Given the description of an element on the screen output the (x, y) to click on. 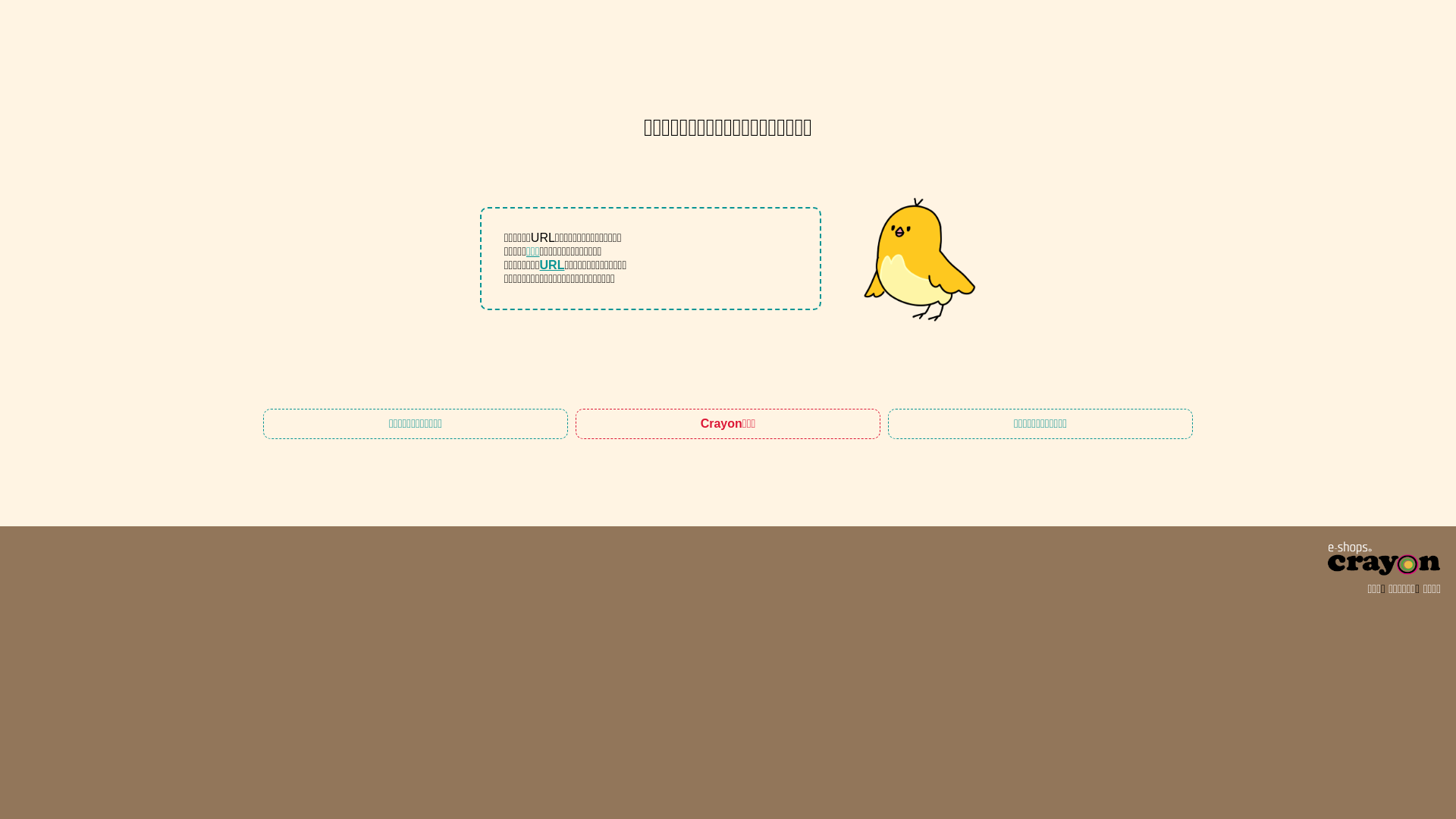
URL Element type: text (551, 264)
